Given the description of an element on the screen output the (x, y) to click on. 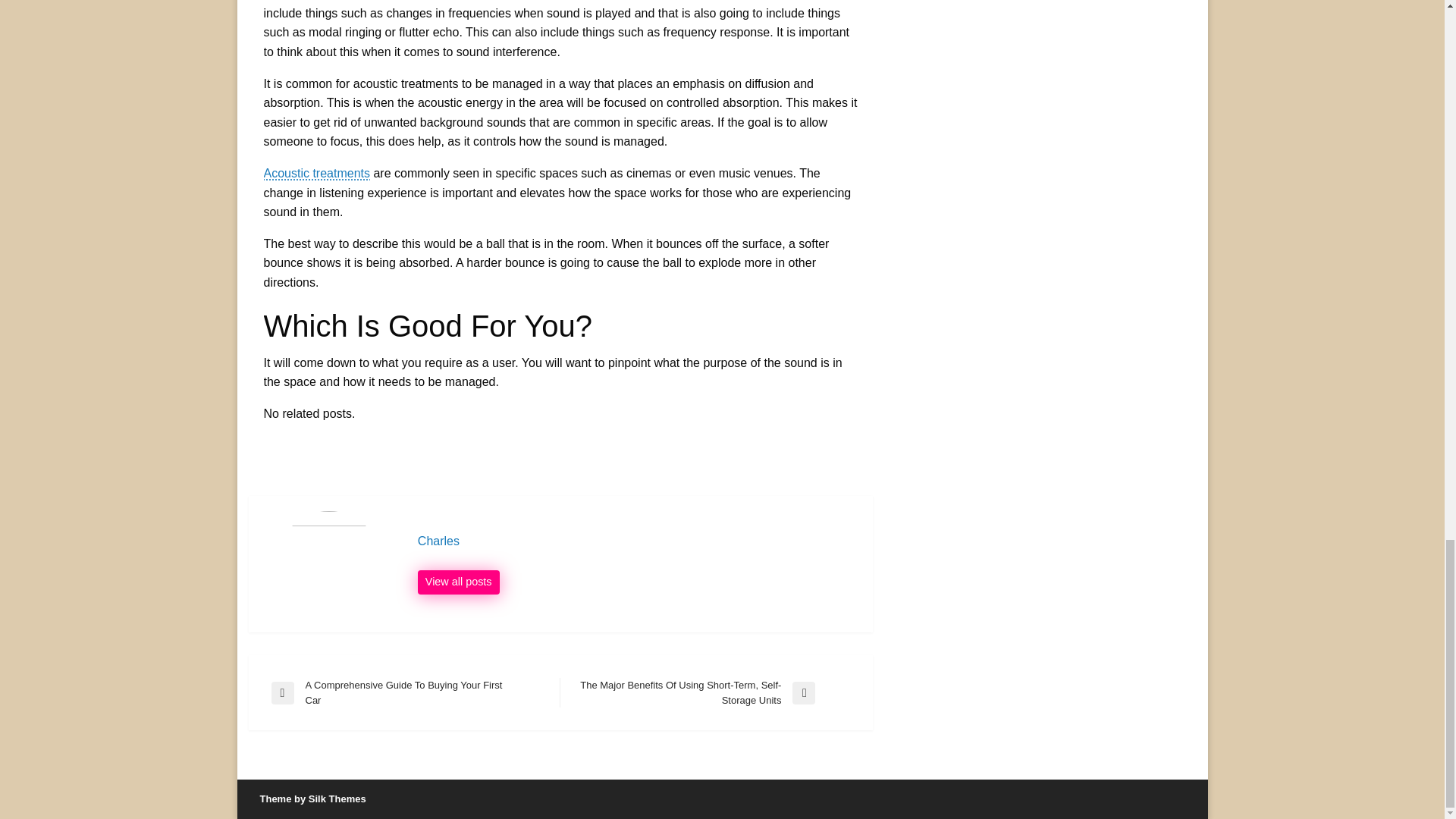
Charles (458, 582)
Charles (637, 540)
Charles (637, 540)
View all posts (458, 582)
Acoustic treatments (415, 692)
